Given the description of an element on the screen output the (x, y) to click on. 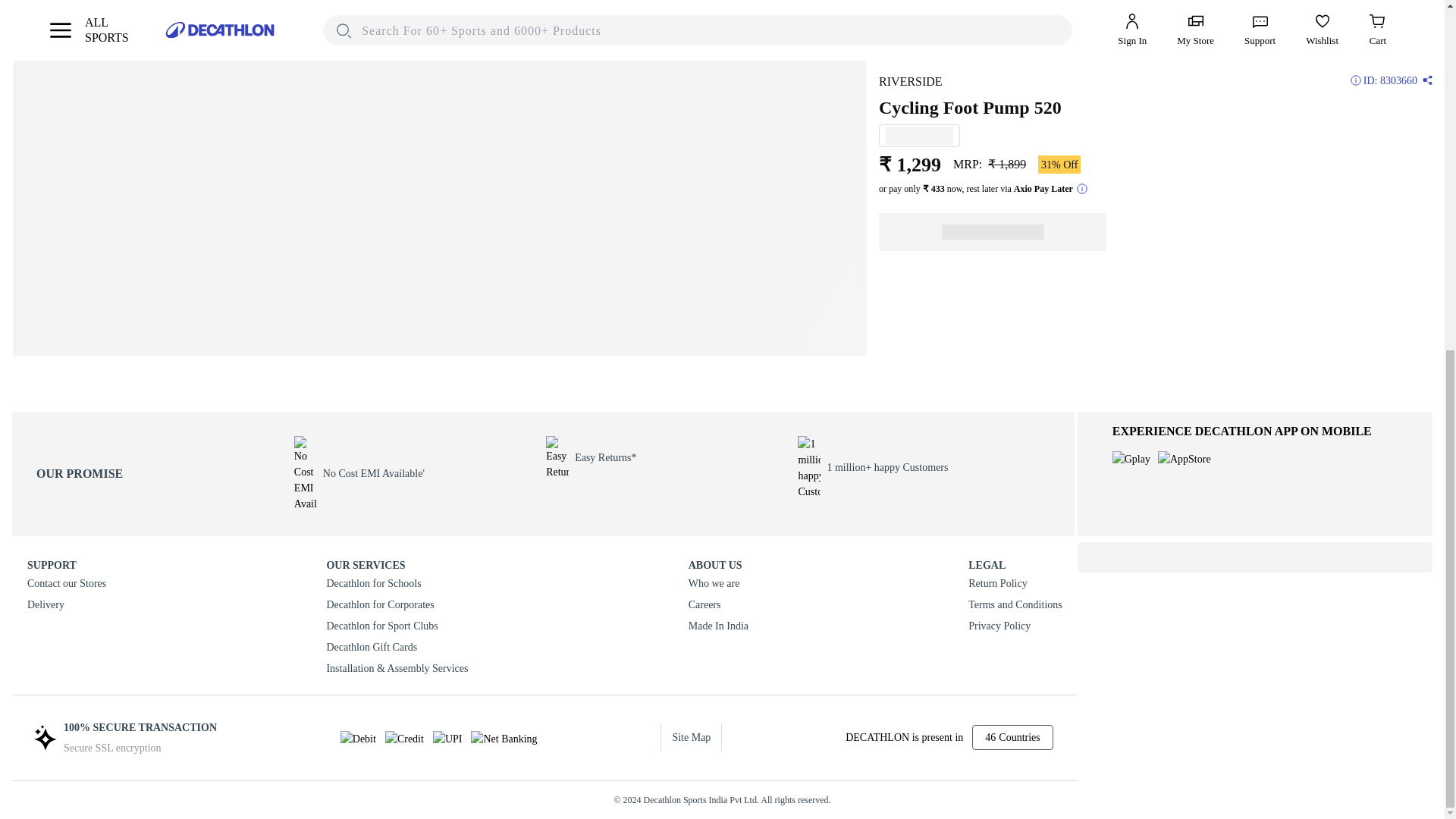
Contact our Stores (66, 583)
Careers (718, 604)
Return Policy (1014, 583)
Decathlon for Schools (396, 583)
No Cost EMI Available' (420, 472)
Decathlon for Corporates (396, 604)
Decathlon for Sport Clubs (396, 626)
Made In India (718, 626)
Who we are (718, 583)
Site Map (691, 737)
Delivery (66, 604)
Terms and Conditions (1014, 604)
Privacy Policy (1014, 626)
Decathlon Gift Cards (396, 647)
